Given the description of an element on the screen output the (x, y) to click on. 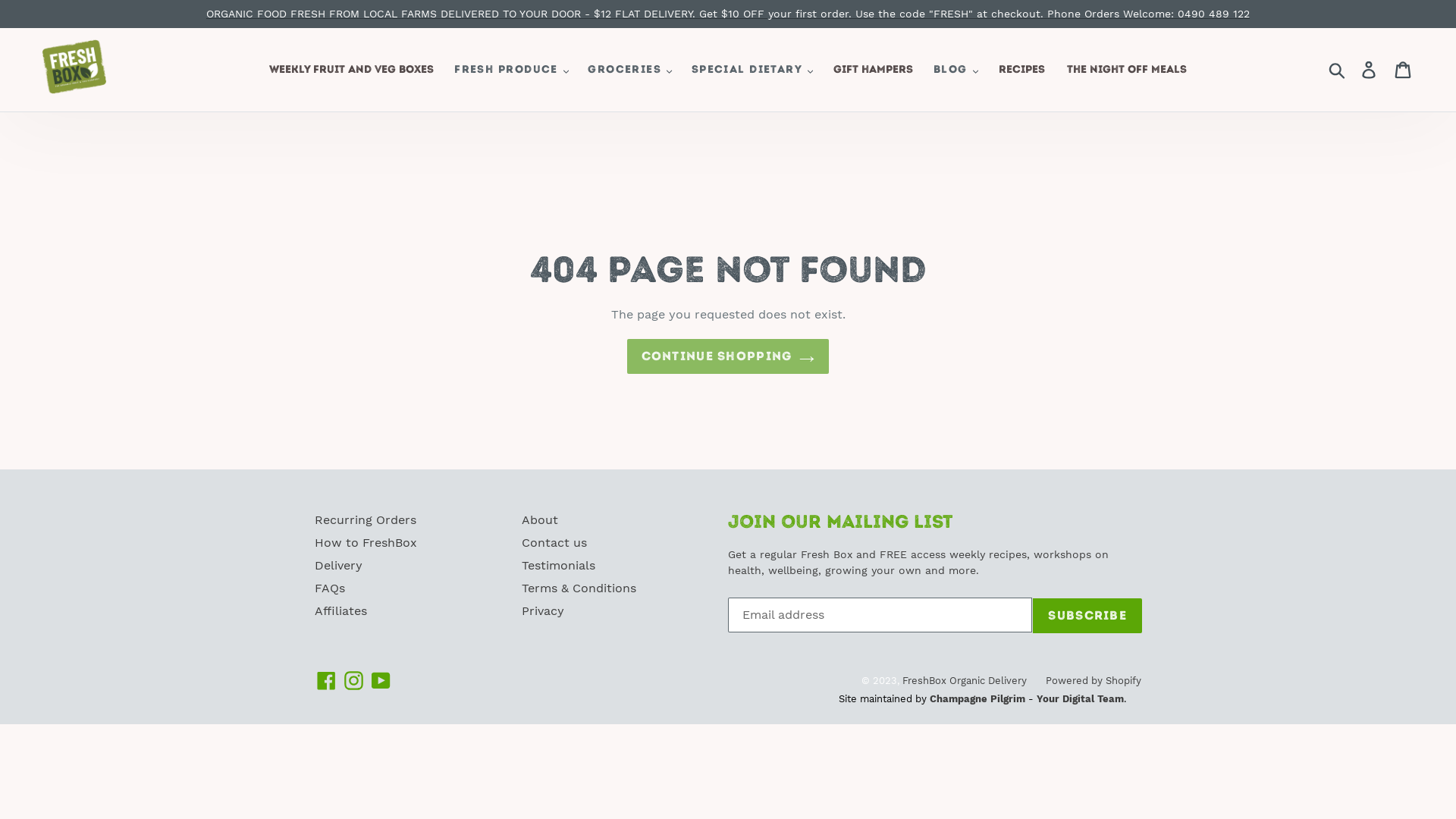
Testimonials Element type: text (558, 565)
YouTube Element type: text (380, 680)
THE NIGHT OFF MEALS Element type: text (1126, 69)
Submit Element type: text (1337, 69)
Log in Element type: text (1369, 70)
FAQs Element type: text (329, 587)
CONTINUE SHOPPING Element type: text (728, 355)
Privacy Element type: text (542, 610)
Your Digital Team Element type: text (1079, 698)
SUBSCRIBE Element type: text (1087, 615)
Instagram Element type: text (353, 680)
Terms & Conditions Element type: text (578, 587)
Contact us Element type: text (553, 542)
Delivery Element type: text (338, 565)
WEEKLY FRUIT AND VEG BOXES Element type: text (351, 69)
Champagne Pilgrim Element type: text (977, 698)
RECIPES Element type: text (1021, 69)
About Element type: text (539, 519)
GIFT HAMPERS Element type: text (873, 69)
Cart Element type: text (1403, 70)
Powered by Shopify Element type: text (1093, 680)
Recurring Orders Element type: text (365, 519)
Facebook Element type: text (326, 680)
How to FreshBox Element type: text (365, 542)
Affiliates Element type: text (340, 610)
FreshBox Organic Delivery Element type: text (964, 680)
